Given the description of an element on the screen output the (x, y) to click on. 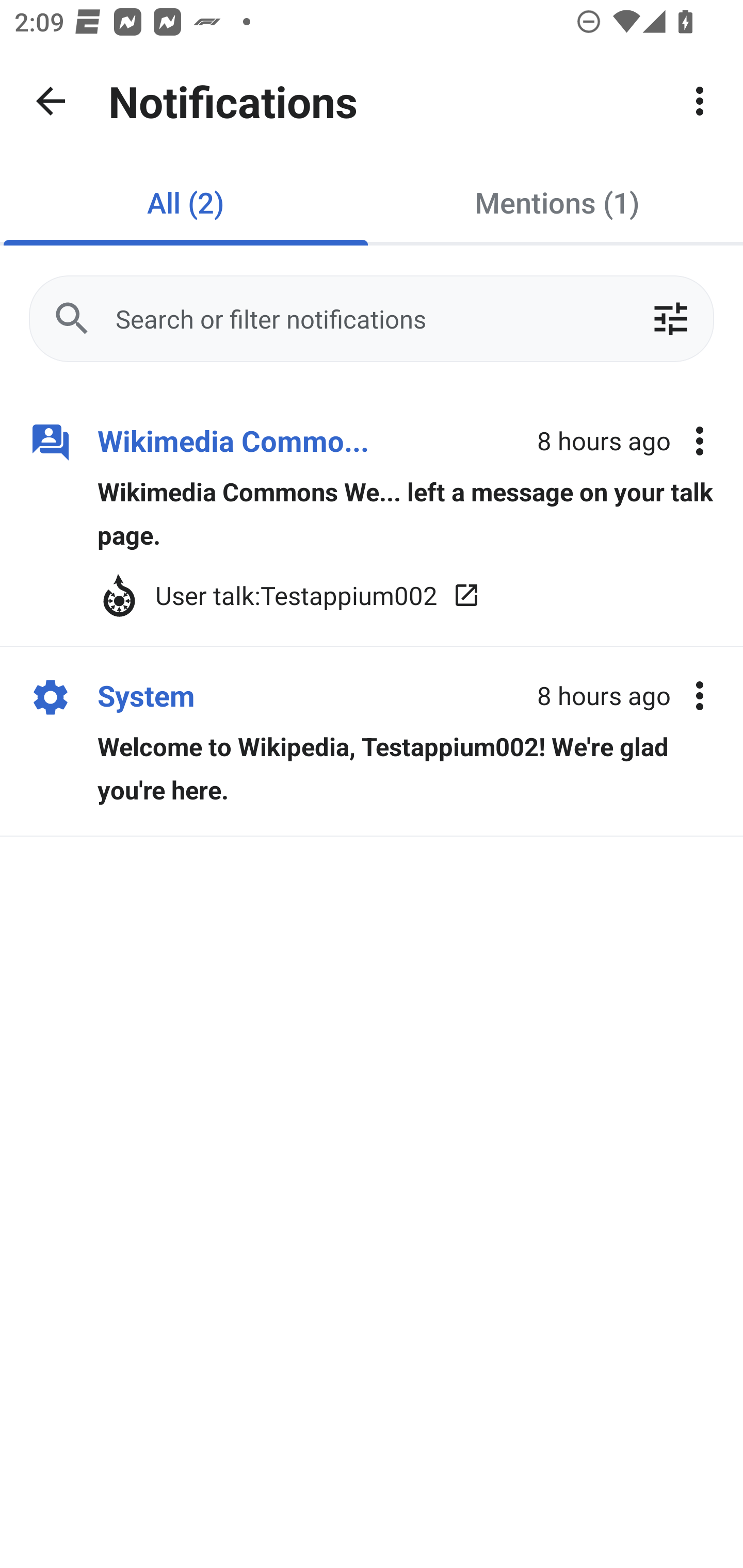
Navigate up (50, 101)
More (699, 101)
Mentions (1) (557, 202)
Notification filter (670, 318)
More options (699, 441)
More options (699, 695)
